Given the description of an element on the screen output the (x, y) to click on. 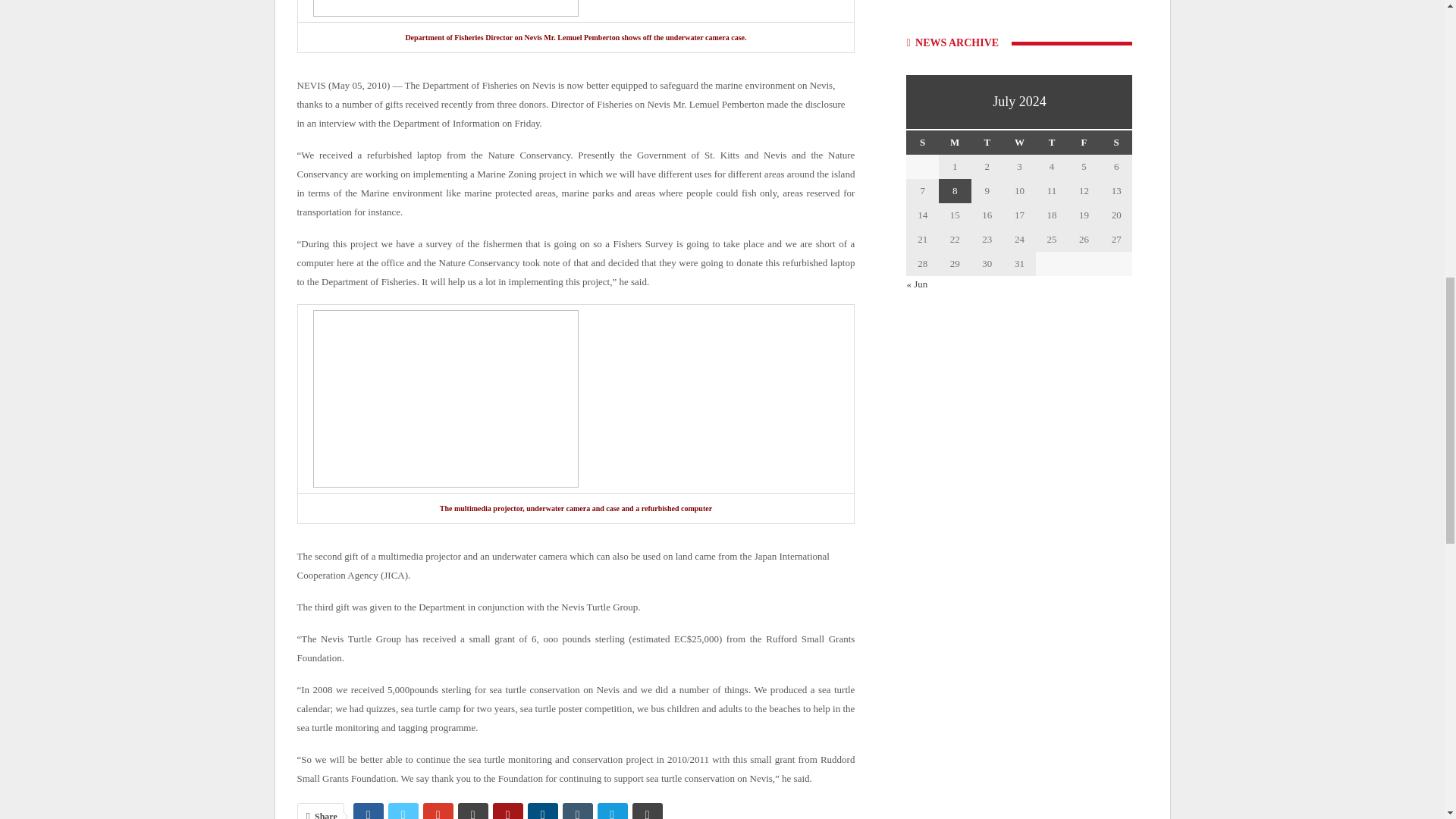
Tuesday (987, 142)
Monday (955, 142)
Wednesday (1019, 142)
Thursday (1051, 142)
Sunday (922, 142)
